Given the description of an element on the screen output the (x, y) to click on. 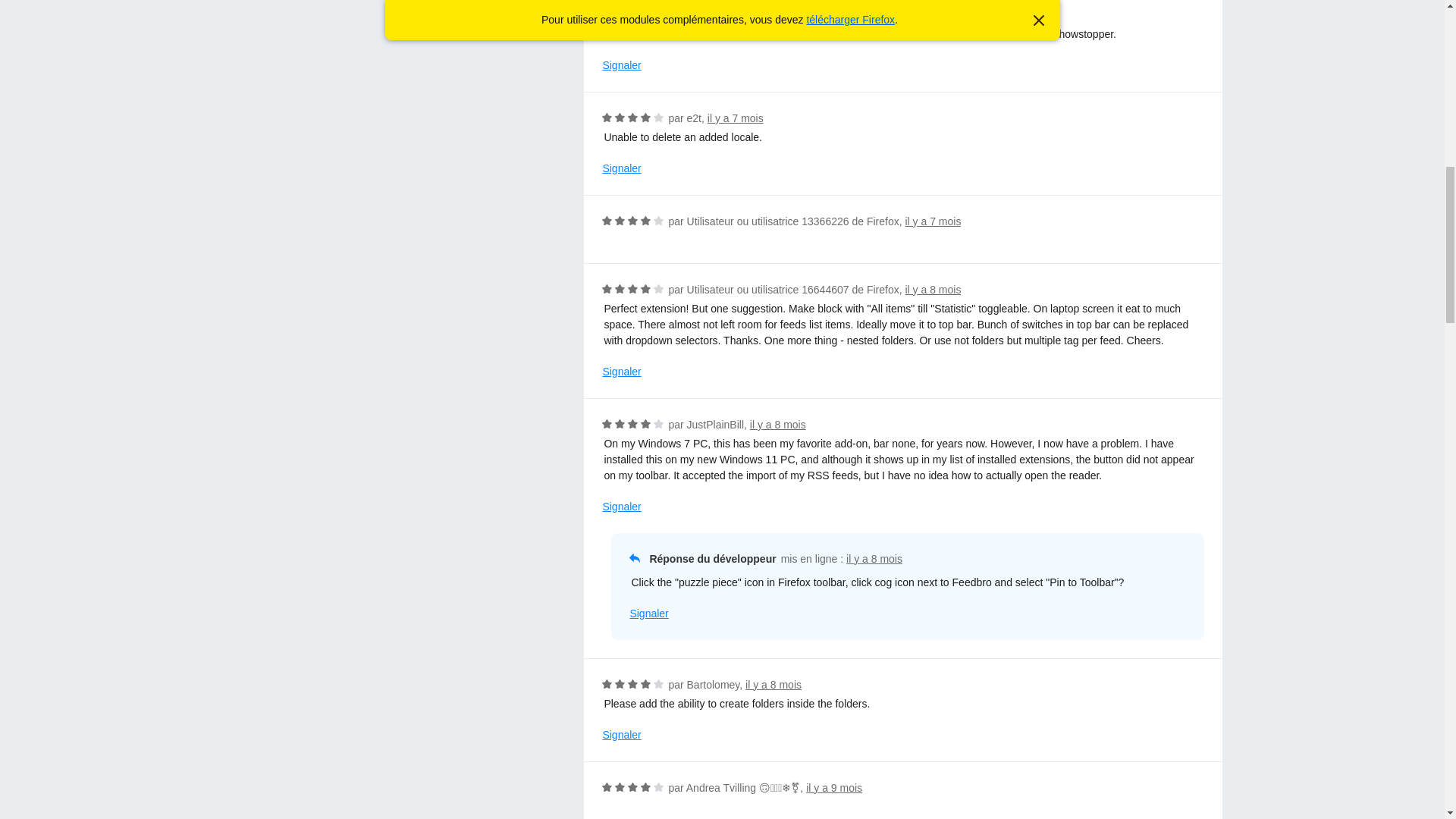
il y a 8 mois (777, 424)
il y a 8 mois (873, 558)
Signaler (621, 506)
il y a 8 mois (932, 289)
Signaler (648, 613)
Signaler (621, 371)
il y a 7 mois (734, 118)
Signaler (621, 168)
il y a 7 mois (748, 15)
Signaler (621, 65)
